Given the description of an element on the screen output the (x, y) to click on. 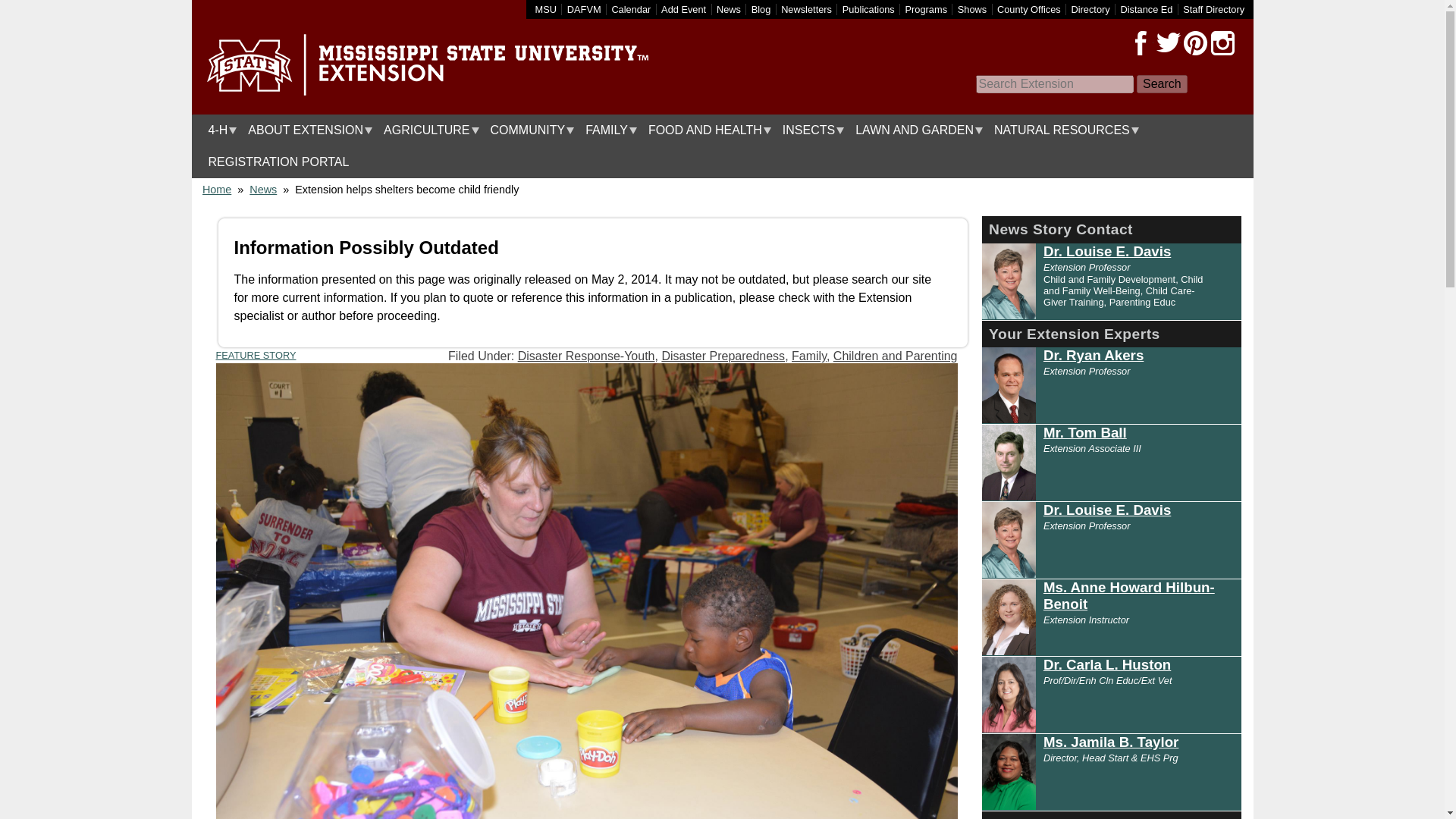
Shows (972, 9)
4-H (218, 130)
Blog (761, 9)
Directory (1089, 9)
List of Extension Programs (926, 9)
Add Event (683, 9)
Calendar (630, 9)
Distance Ed (1145, 9)
County Offices (1029, 9)
Pinterest (1194, 43)
Find a county extension office (1029, 9)
Directory of employees of the MSU Extension Service (1213, 9)
Publications (869, 9)
